Given the description of an element on the screen output the (x, y) to click on. 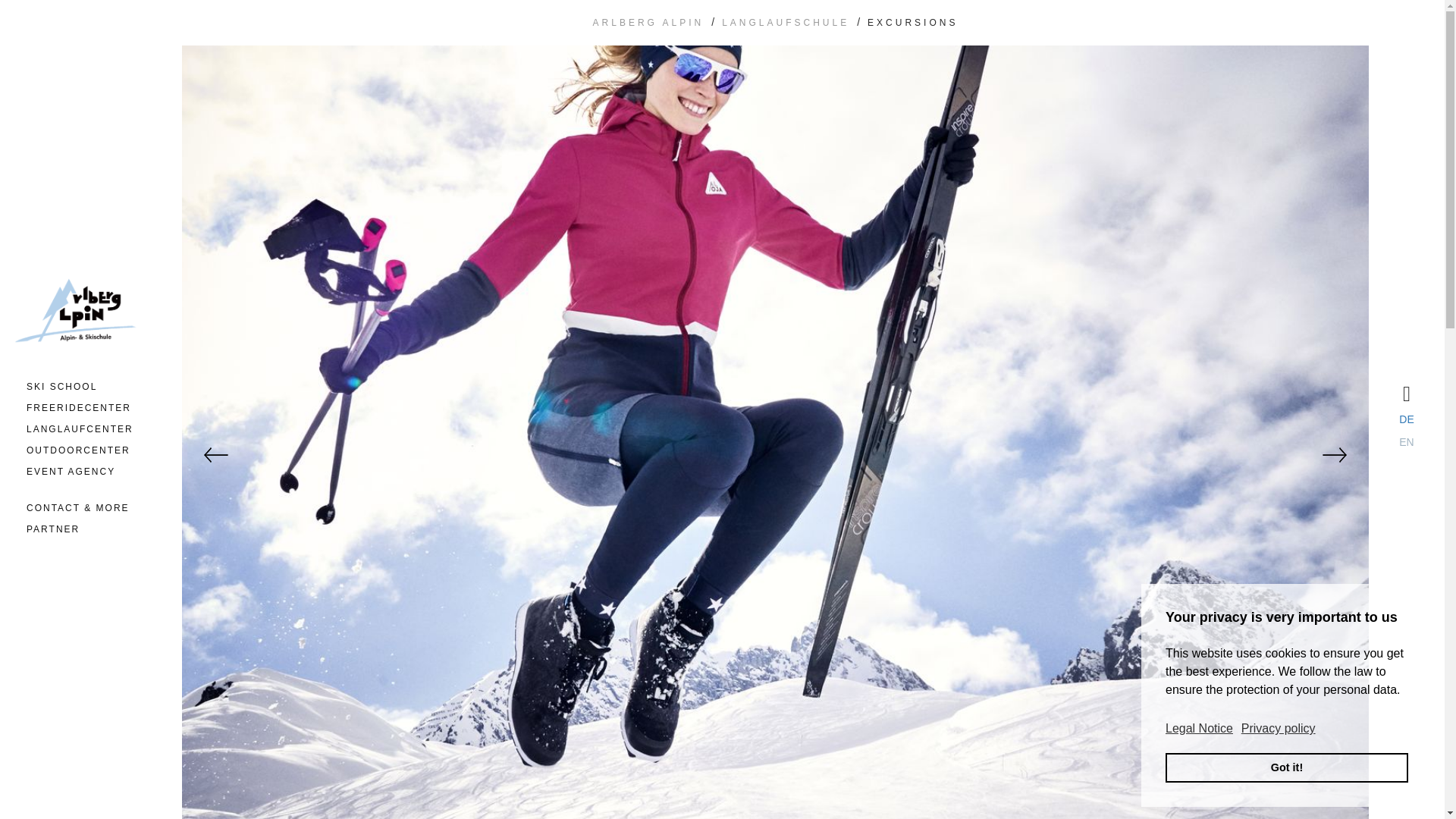
Langlaufschule (785, 22)
Legal Notice (1200, 728)
Got it! (1286, 767)
Privacy policy (1278, 728)
Arlberg Alpin (648, 22)
